Given the description of an element on the screen output the (x, y) to click on. 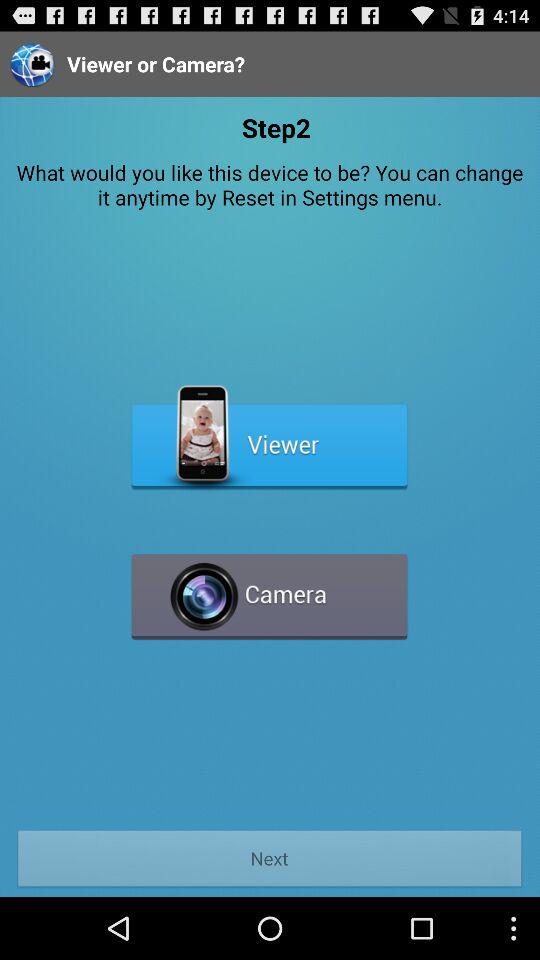
select camera mode (269, 588)
